Given the description of an element on the screen output the (x, y) to click on. 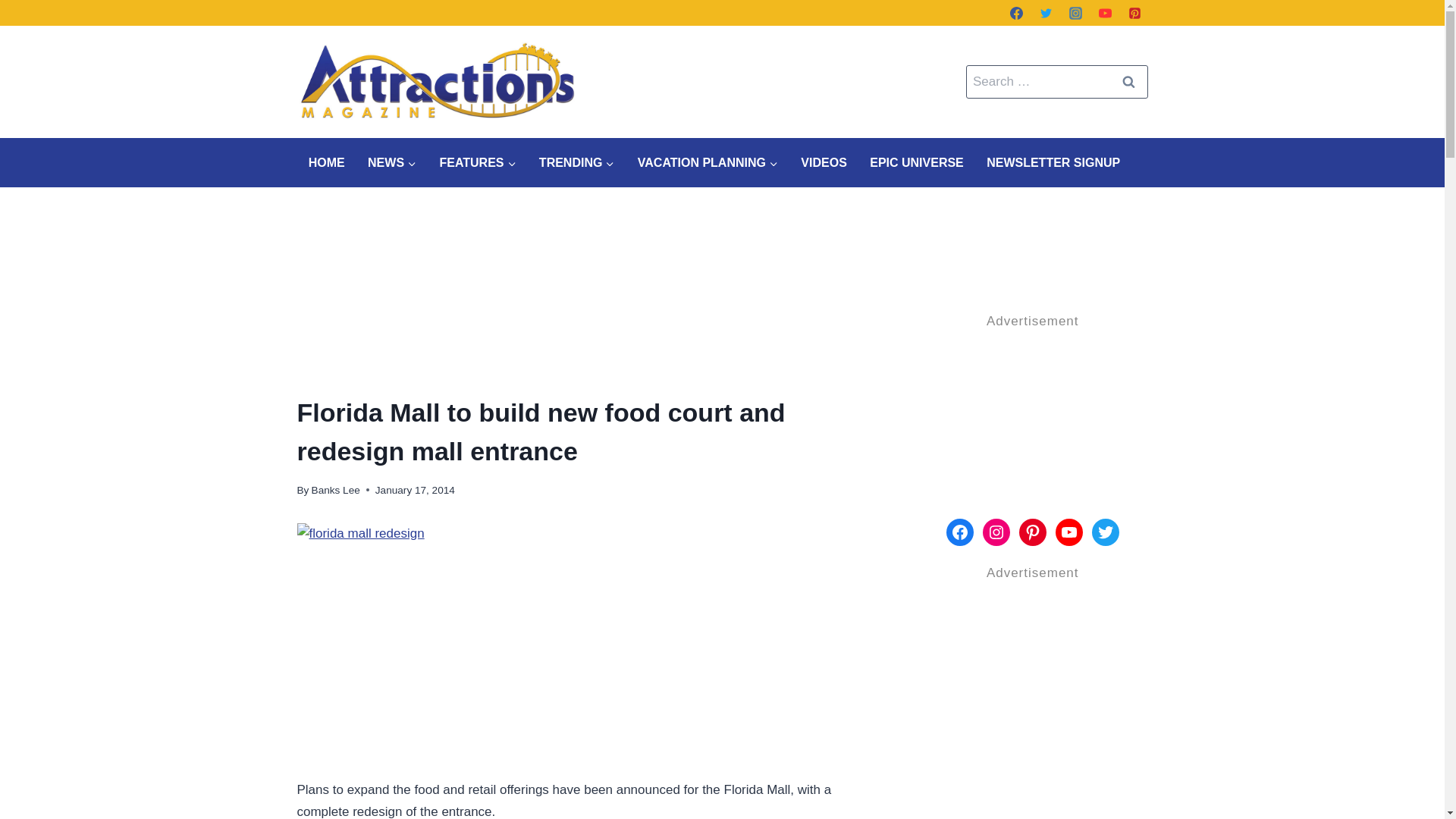
Search (1128, 81)
NEWSLETTER SIGNUP (1053, 162)
TRENDING (576, 162)
NEWS (392, 162)
VIDEOS (824, 162)
Search (1128, 81)
FEATURES (477, 162)
EPIC UNIVERSE (917, 162)
HOME (326, 162)
VACATION PLANNING (708, 162)
Search (1128, 81)
